Given the description of an element on the screen output the (x, y) to click on. 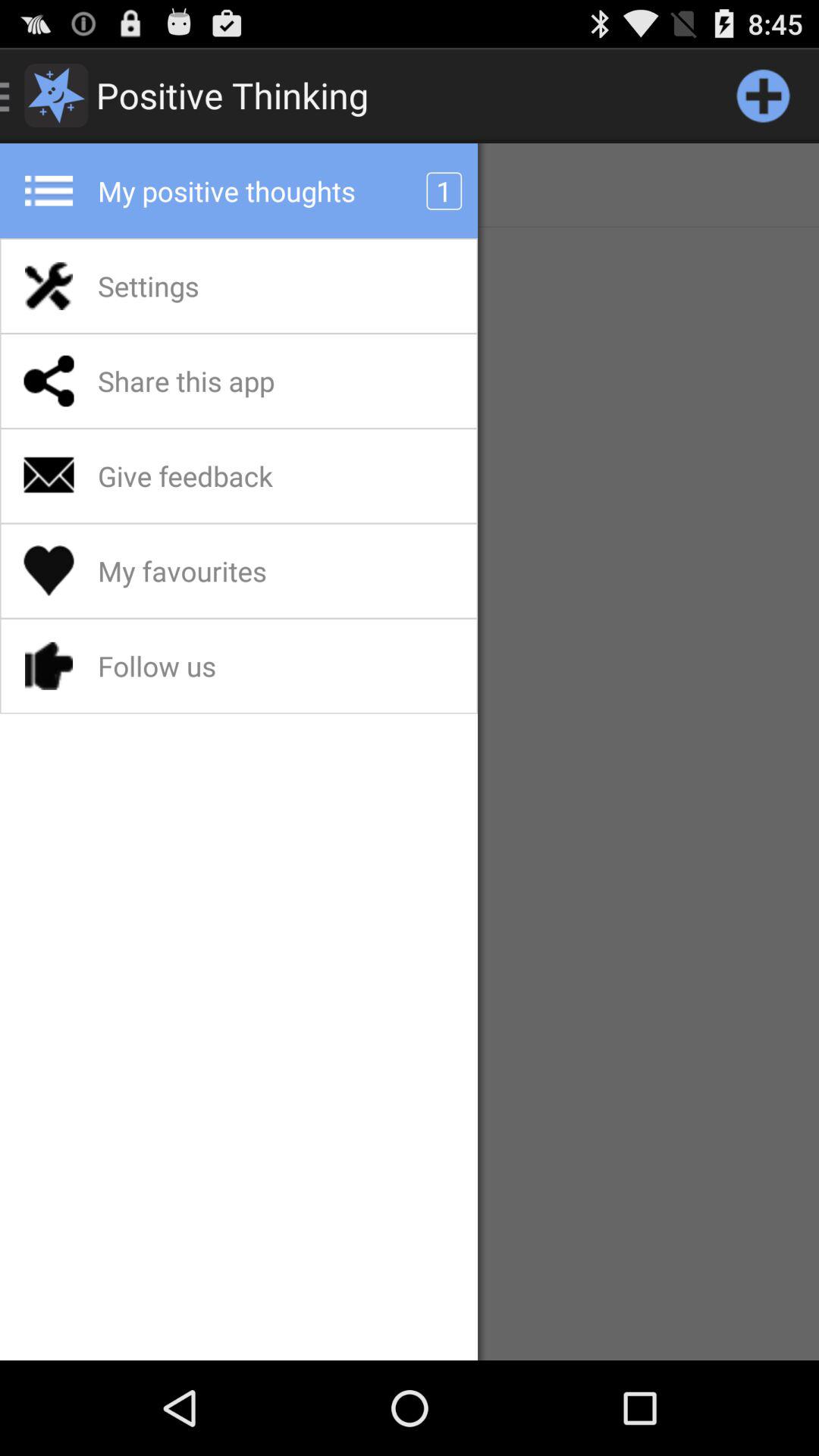
click the app below the positive thinking item (266, 190)
